Given the description of an element on the screen output the (x, y) to click on. 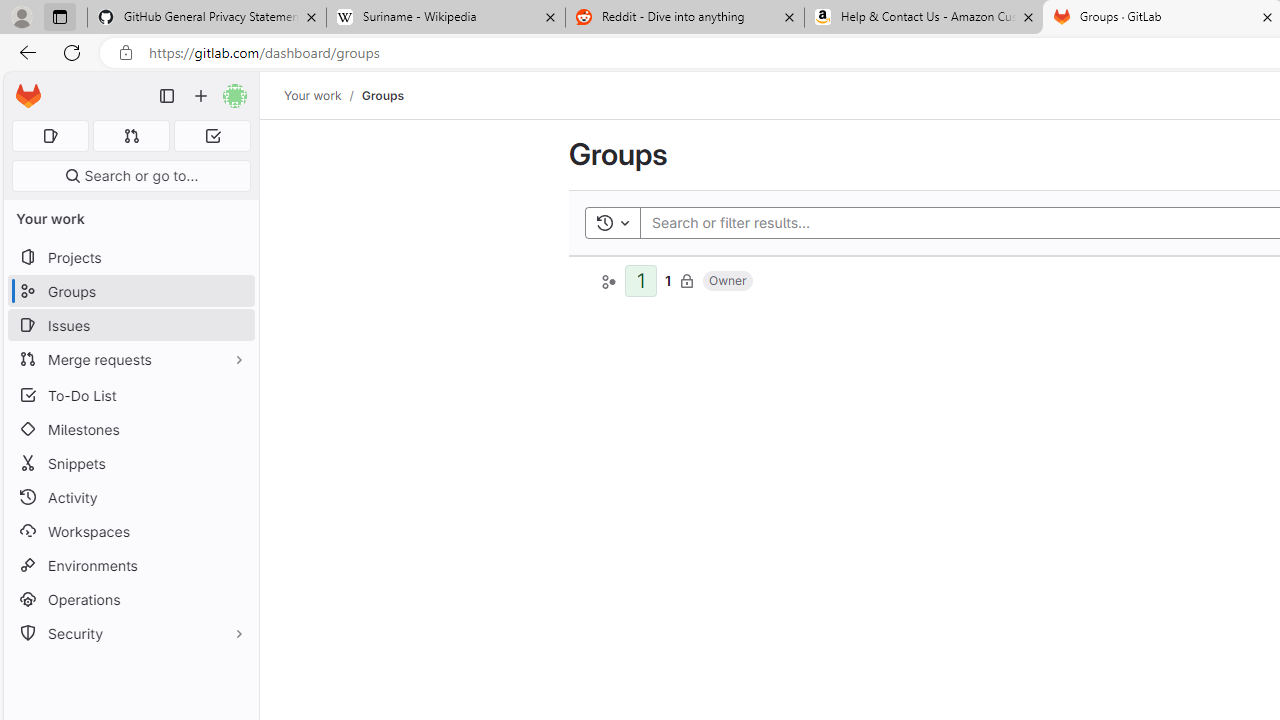
Issues (130, 325)
Security (130, 633)
1 (667, 280)
Milestones (130, 429)
Milestones (130, 429)
Security (130, 633)
Projects (130, 257)
Environments (130, 564)
Environments (130, 564)
